Given the description of an element on the screen output the (x, y) to click on. 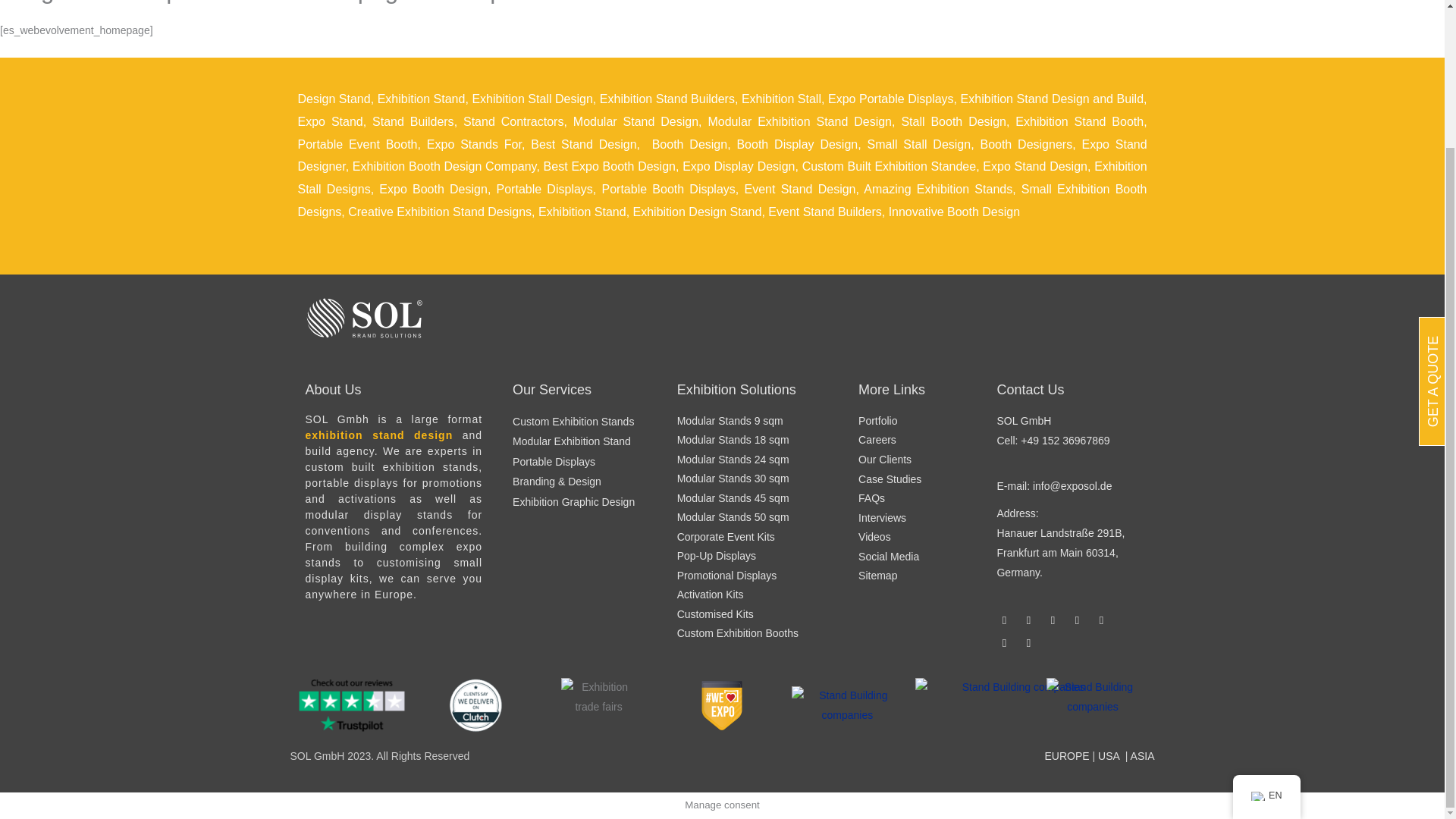
Exhibition Stall (781, 98)
Exhibition Stand Design and Build (1051, 98)
Footer-Logo-07-Cropped (598, 705)
Exhibition Stall Design (531, 98)
Modular Exhibition Stand Design (799, 121)
Stand Builders (413, 121)
Footer-Logo-03-cropped (847, 704)
Modular Stand Design (635, 121)
Expo Portable Displays (890, 98)
Stand Contractors (513, 121)
Exhibition Stand Booth (1078, 121)
Footer-Logo-02-cropped (475, 705)
Exhibition Stand (421, 98)
Expo Stand (329, 121)
